Given the description of an element on the screen output the (x, y) to click on. 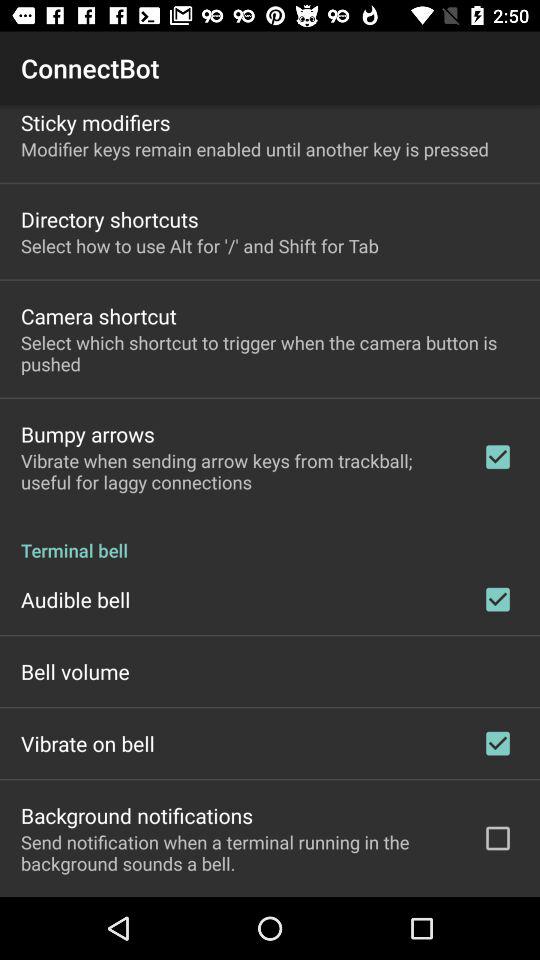
select the background notifications item (137, 815)
